Given the description of an element on the screen output the (x, y) to click on. 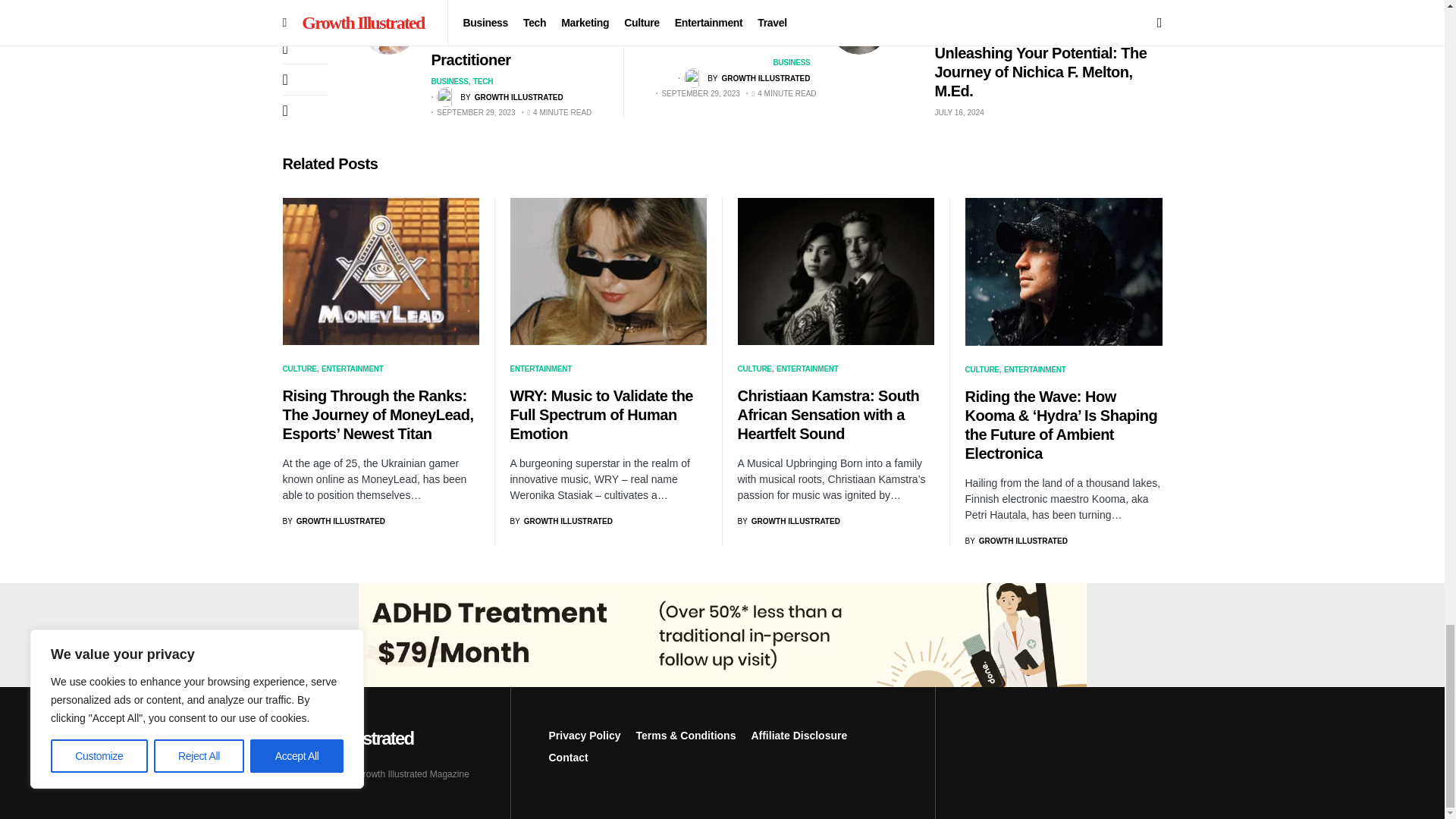
View all posts by Growth Illustrated (499, 96)
View all posts by Growth Illustrated (788, 521)
View all posts by Growth Illustrated (333, 521)
View all posts by Growth Illustrated (560, 521)
View all posts by Growth Illustrated (1015, 541)
View all posts by Growth Illustrated (746, 77)
